Given the description of an element on the screen output the (x, y) to click on. 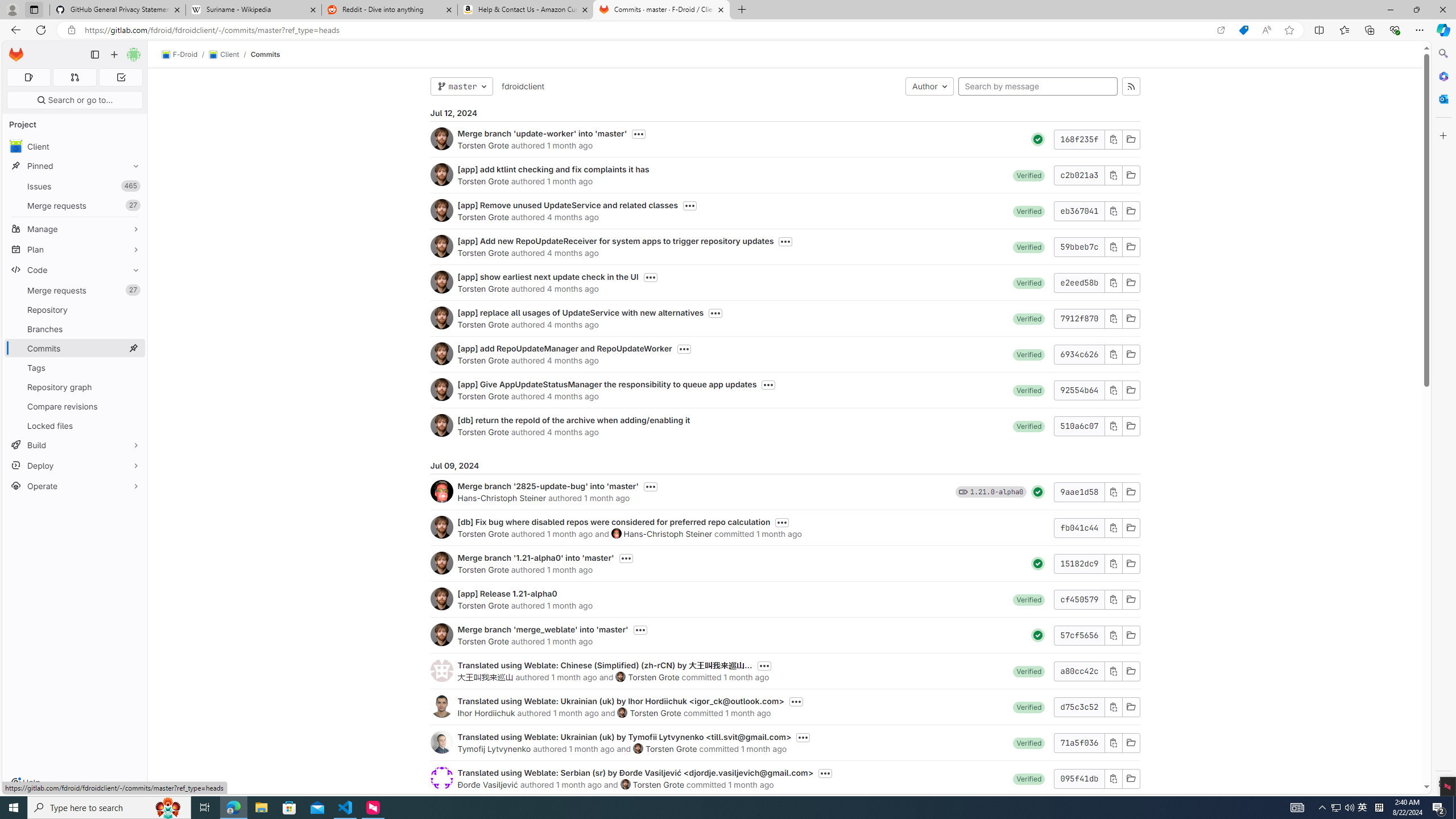
Class: s24 gl-icon (1037, 635)
Plan (74, 248)
avatar Client (74, 145)
Build (74, 444)
[app] show earliest next update check in the UI (548, 276)
Pin Tags (132, 367)
Tags (74, 367)
